Given the description of an element on the screen output the (x, y) to click on. 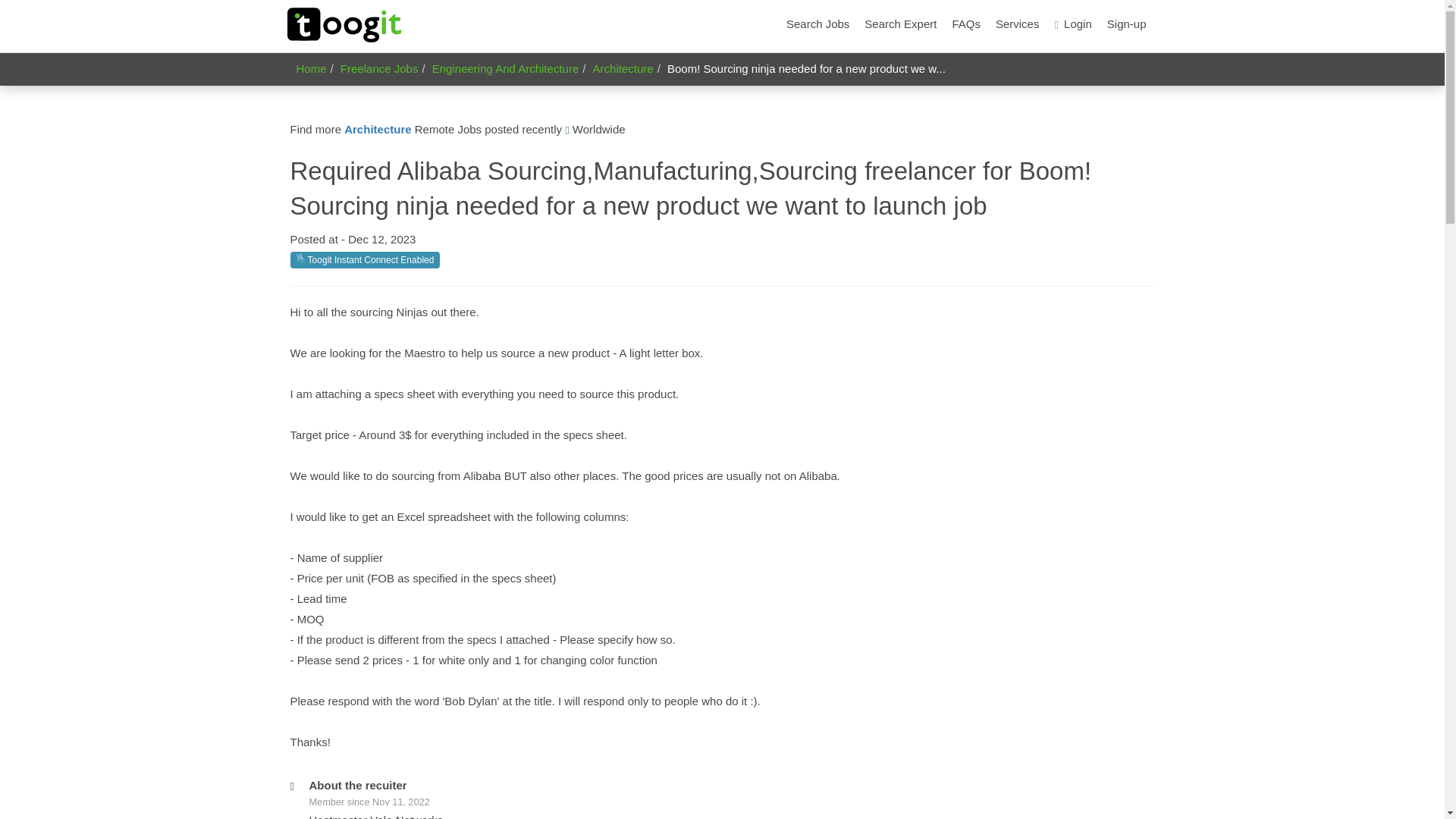
Engineering And Architecture (505, 68)
Architecture (376, 128)
Search Expert (900, 23)
Find More Architecture Remote Jobs (376, 128)
Freelance Jobs (379, 68)
Services (1017, 23)
Search Jobs (817, 23)
Architecture (622, 68)
Home (310, 68)
Login (1072, 23)
